Given the description of an element on the screen output the (x, y) to click on. 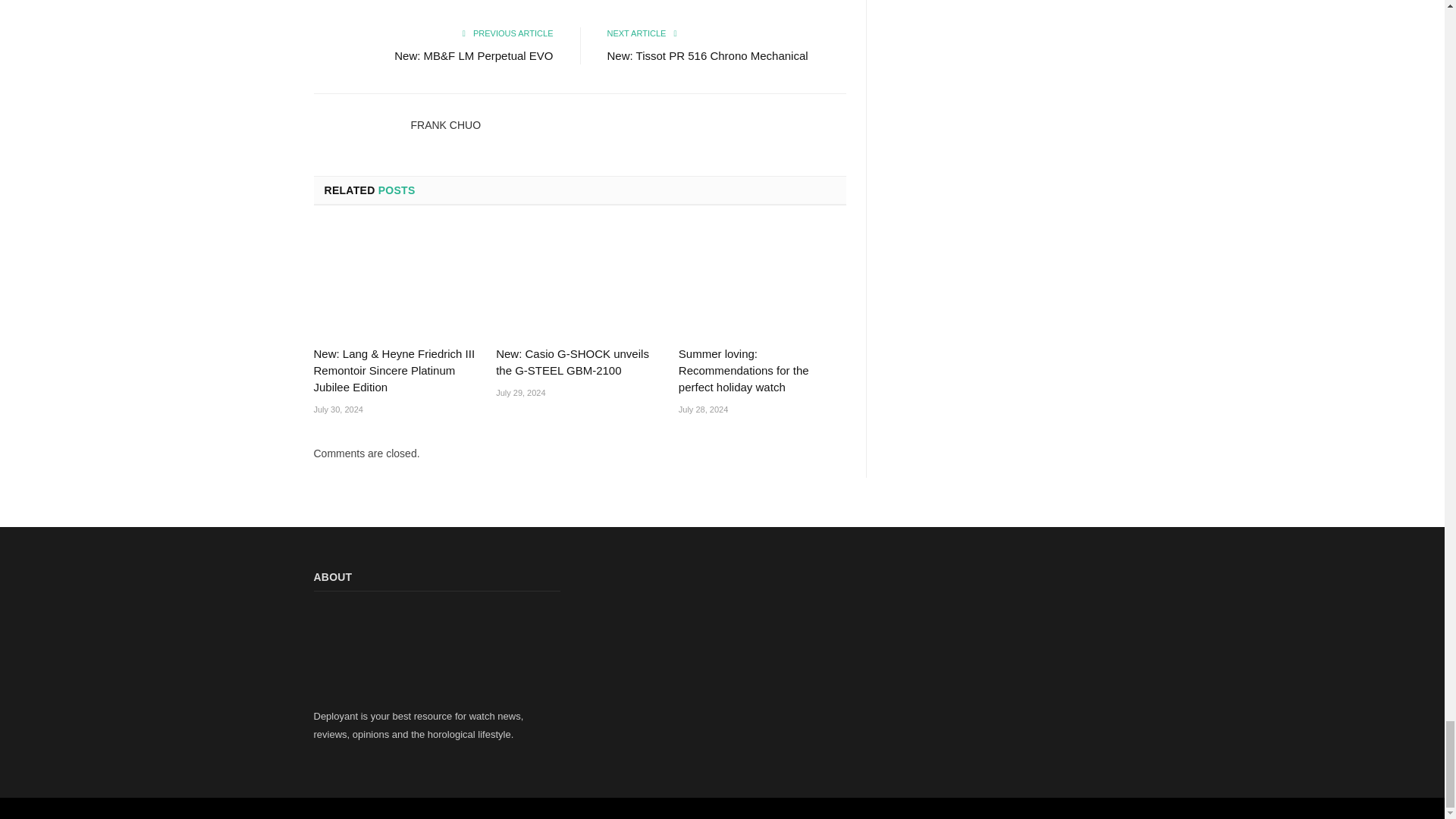
New: Casio G-SHOCK unveils the G-STEEL GBM-2100 (579, 280)
Posts by Frank Chuo (445, 124)
